Given the description of an element on the screen output the (x, y) to click on. 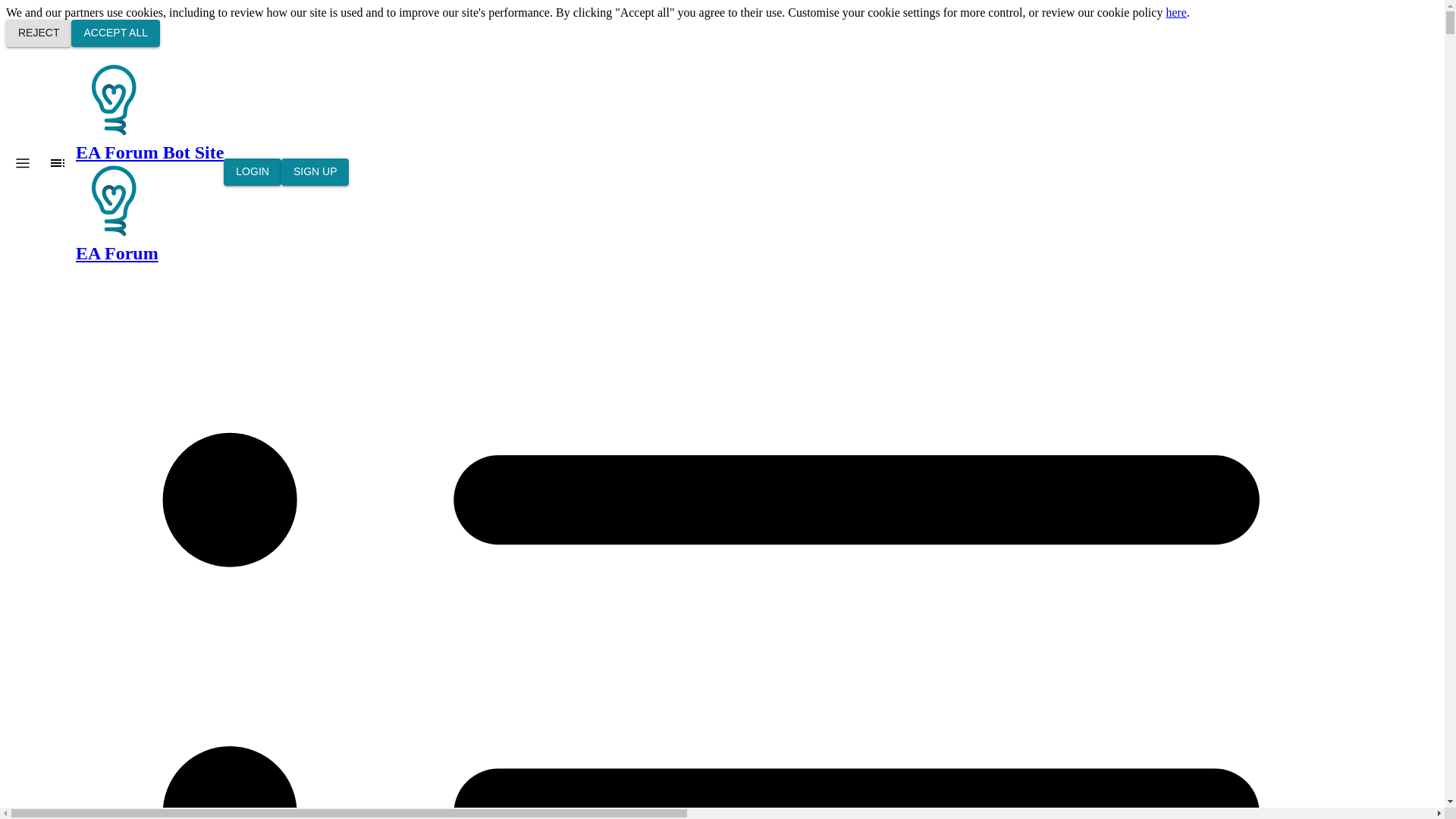
EA Forum Bot Site (149, 112)
SIGN UP (315, 171)
ACCEPT ALL (115, 32)
cookie settings (903, 11)
REJECT (38, 32)
EA Forum (149, 212)
EA Forum Bot Site (113, 100)
here (1176, 11)
LOGIN (252, 171)
EA Forum Bot Site (113, 200)
